Given the description of an element on the screen output the (x, y) to click on. 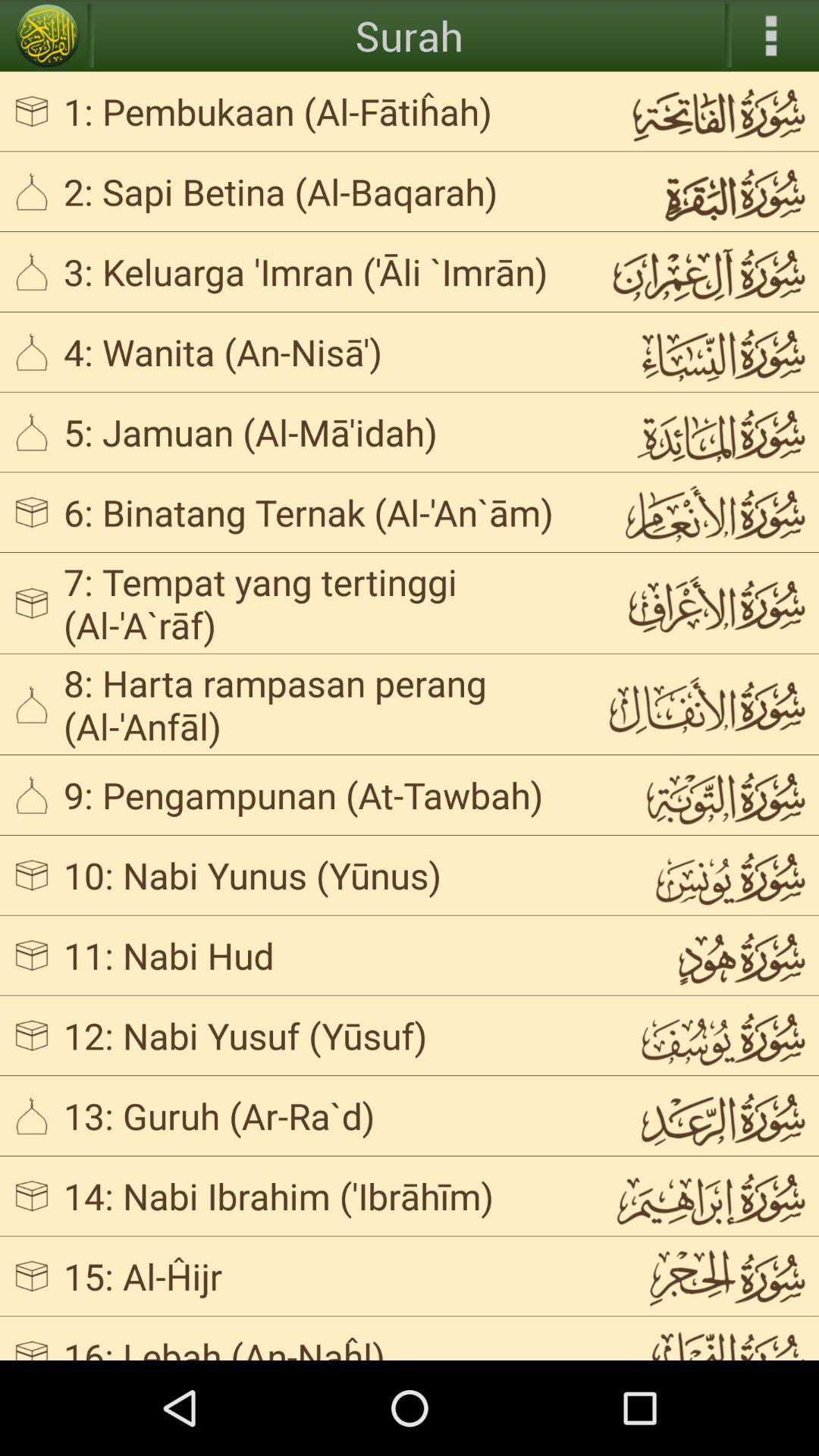
open the 9 pengampunan at icon (322, 794)
